Given the description of an element on the screen output the (x, y) to click on. 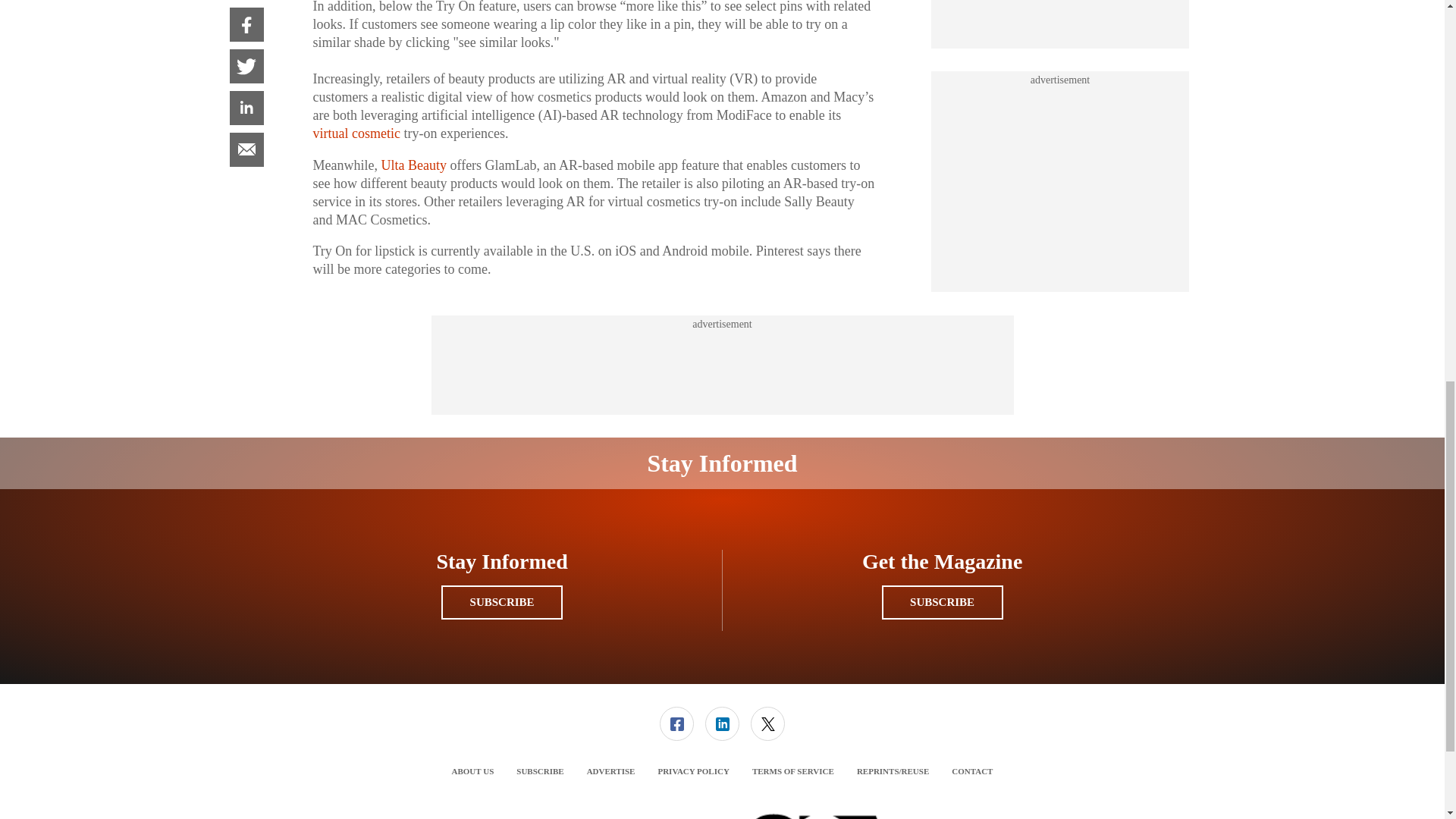
SUBSCRIBE (942, 602)
Ulta Beauty (412, 165)
3rd party ad content (1059, 18)
3rd party ad content (721, 365)
virtual cosmetic (355, 133)
SUBSCRIBE (501, 602)
